Given the description of an element on the screen output the (x, y) to click on. 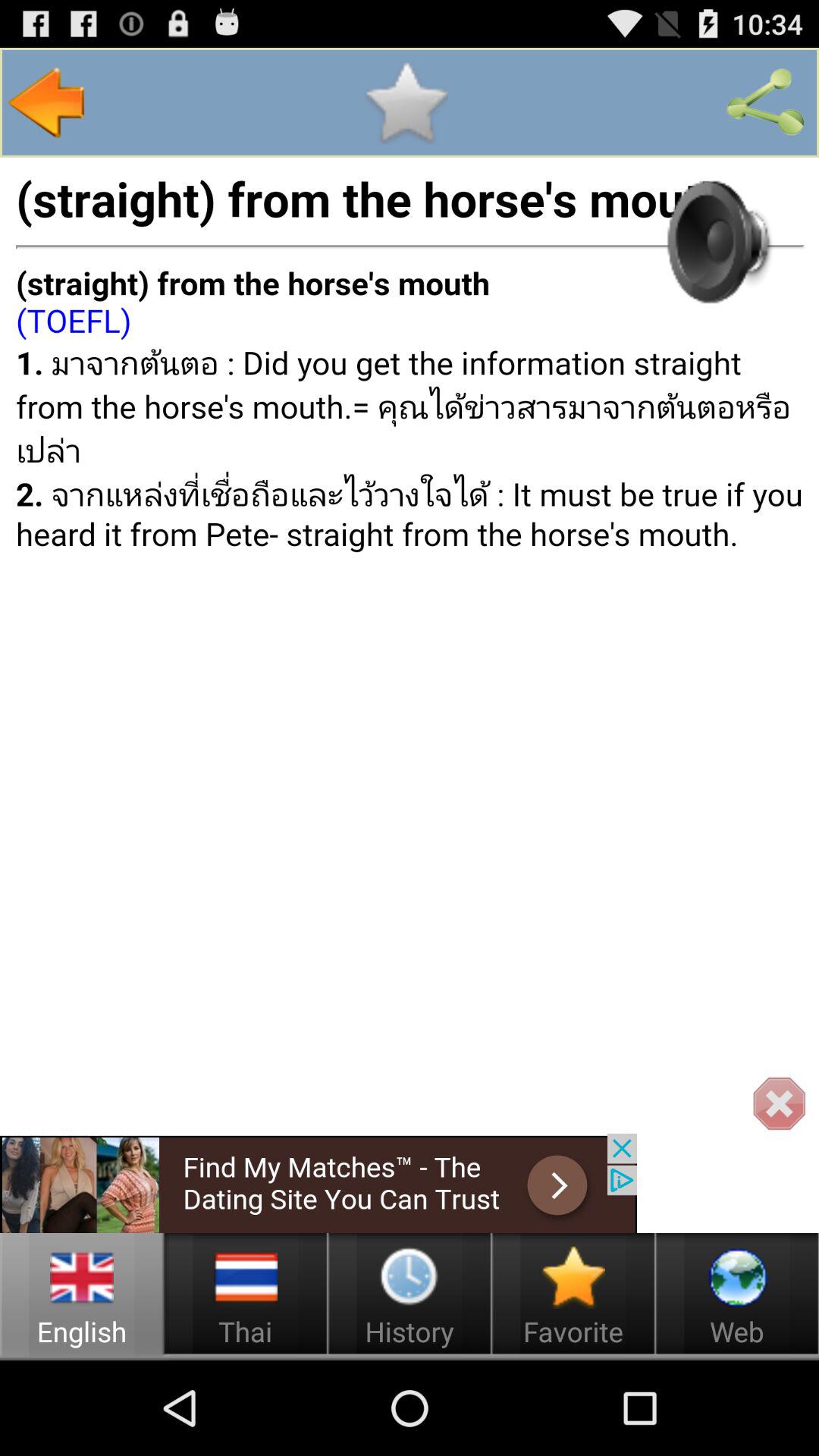
bottom right x icon (778, 1104)
